Given the description of an element on the screen output the (x, y) to click on. 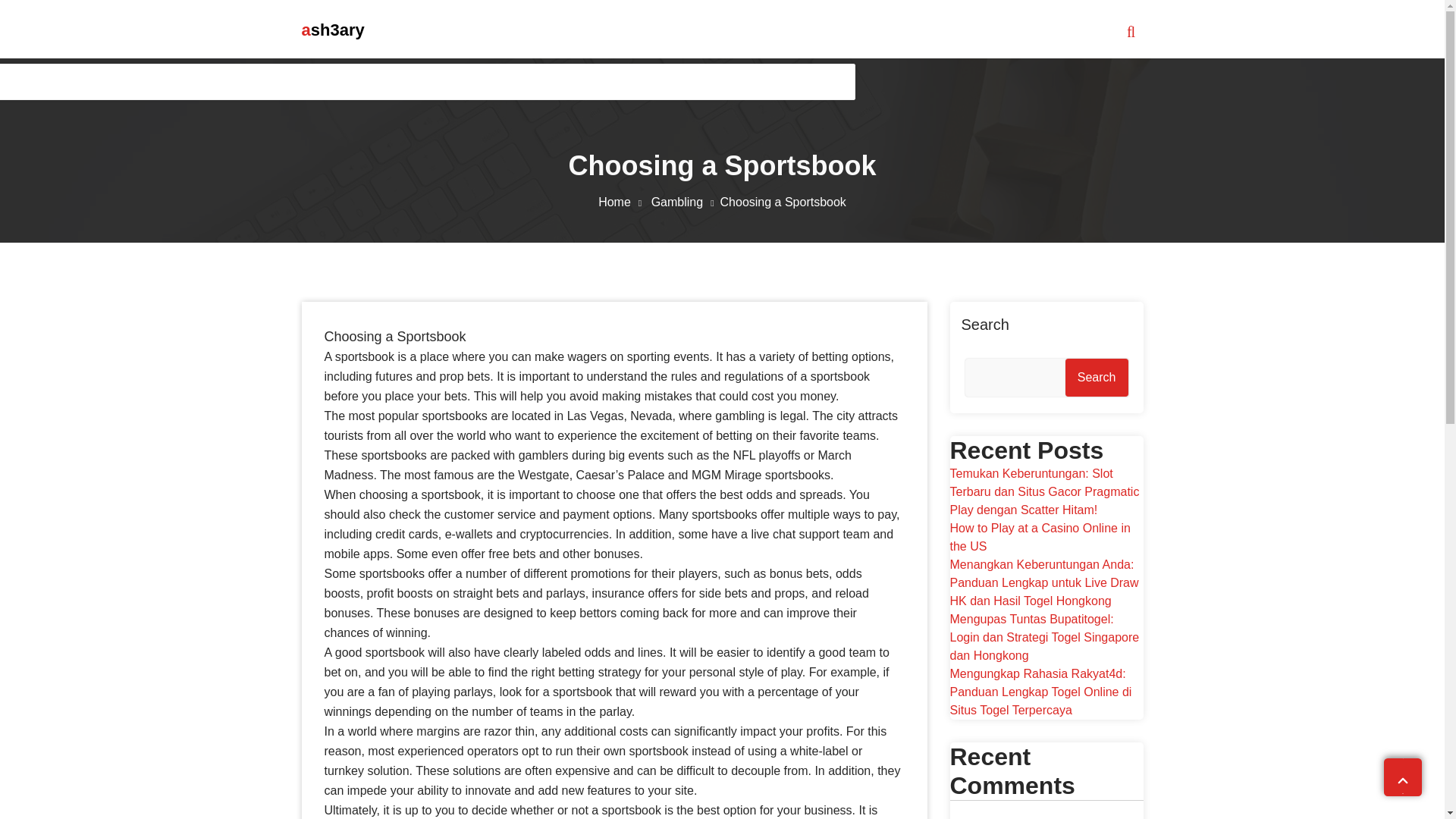
Home (622, 201)
How to Play at a Casino Online in the US (1039, 536)
Gambling (685, 201)
ash3ary (333, 30)
Search (1096, 377)
